Given the description of an element on the screen output the (x, y) to click on. 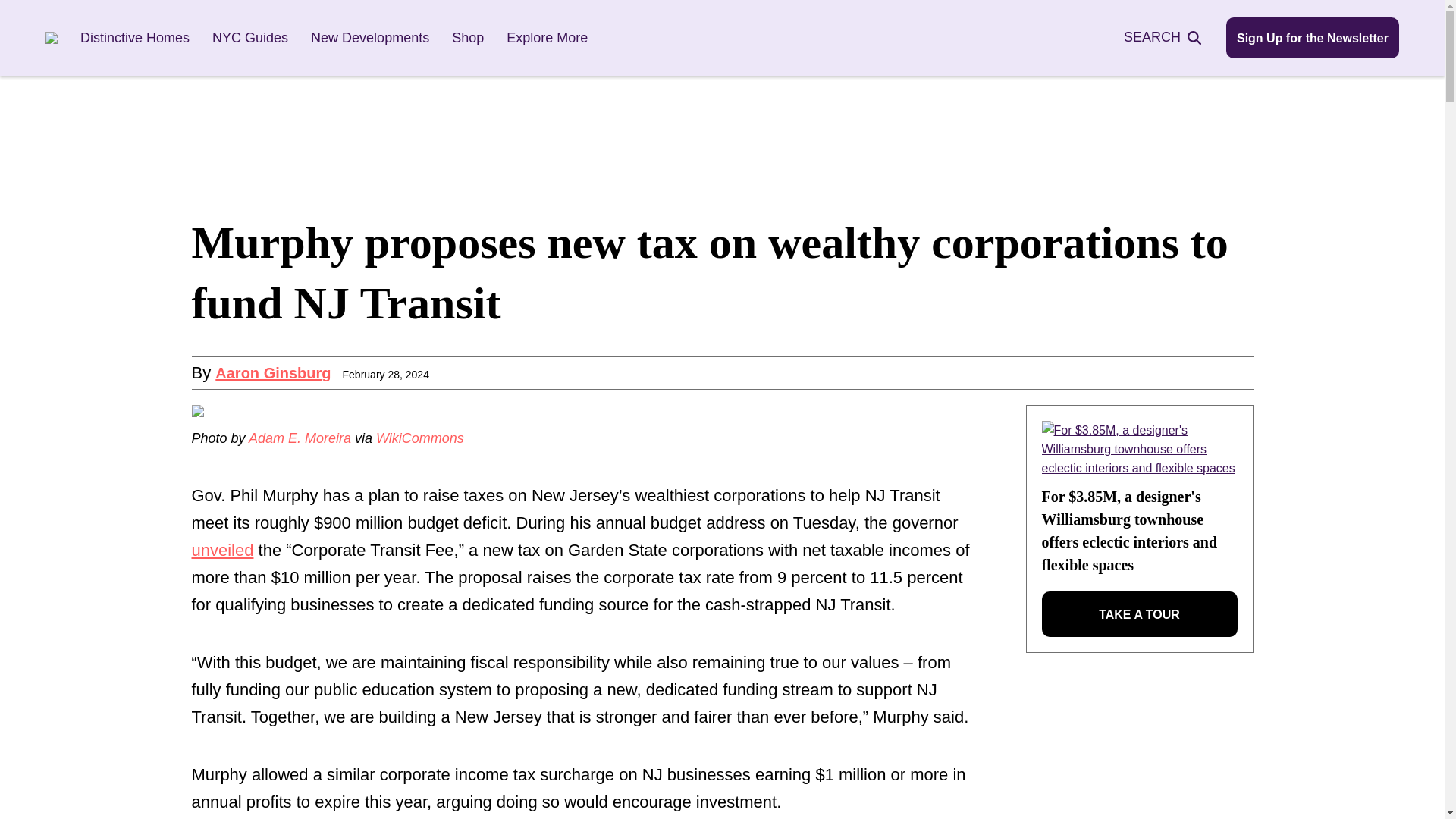
SEARCH (1171, 36)
NYC Guides (250, 37)
Aaron Ginsburg (272, 372)
WikiCommons (419, 437)
Posts by Aaron Ginsburg (272, 372)
Shop (467, 37)
New Developments (370, 37)
Sign Up for the Newsletter (1312, 37)
Explore More (547, 37)
Adam E. Moreira (299, 437)
unveiled (221, 549)
Distinctive Homes (134, 37)
User:AEMoreira042281 (299, 437)
